Given the description of an element on the screen output the (x, y) to click on. 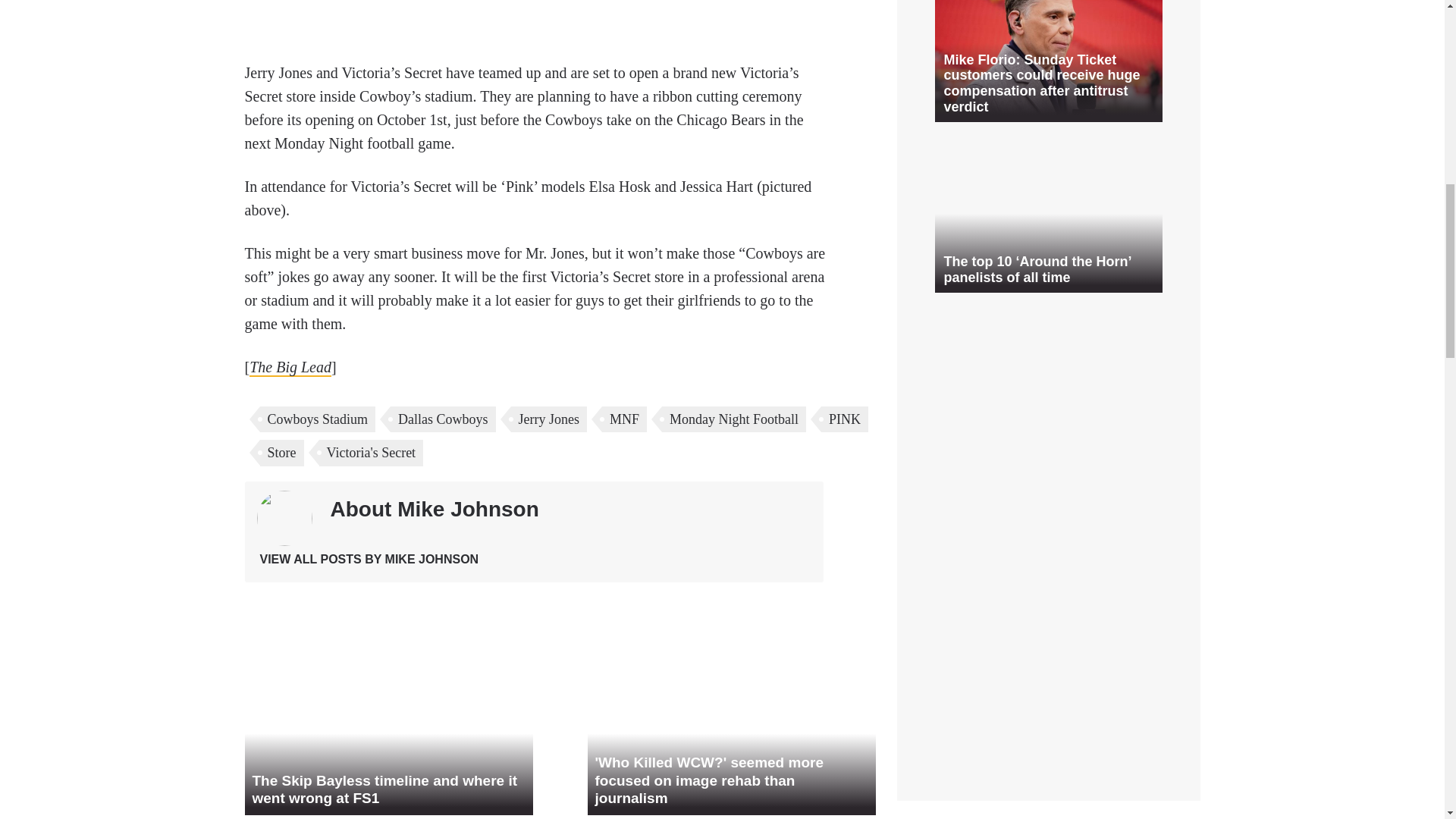
Jerry Jones (548, 419)
Store (280, 452)
PINK (844, 419)
Victoria's Secret (370, 452)
VIEW ALL POSTS BY MIKE JOHNSON (369, 558)
The Big Lead (289, 367)
Cowboys Stadium (317, 419)
Dallas Cowboys (443, 419)
The Skip Bayless timeline and where it went wrong at FS1 (388, 736)
